Given the description of an element on the screen output the (x, y) to click on. 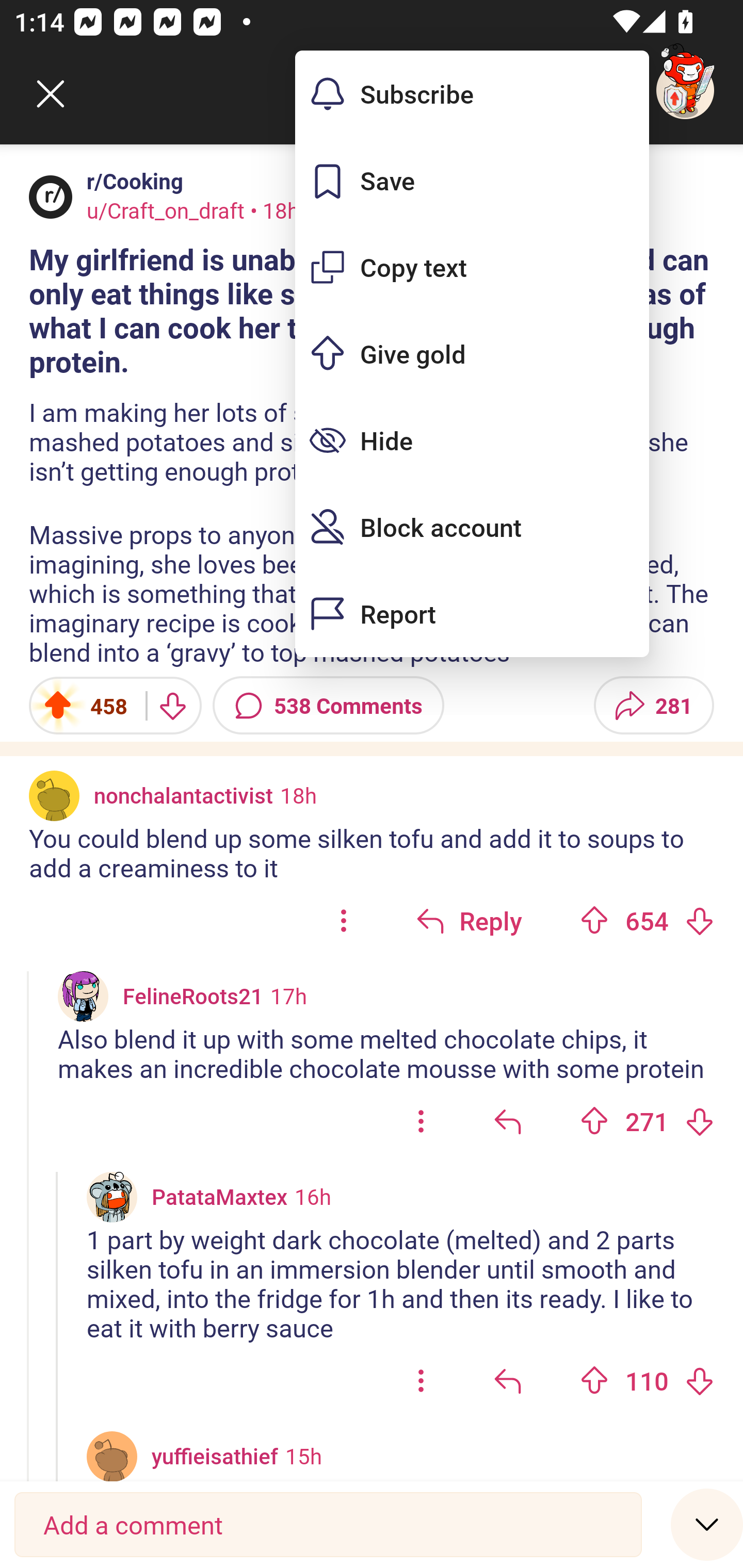
Subscribe (471, 93)
Save (471, 180)
Copy text (471, 267)
Give gold (471, 353)
Hide (471, 440)
Block account (471, 527)
Report (471, 613)
